Given the description of an element on the screen output the (x, y) to click on. 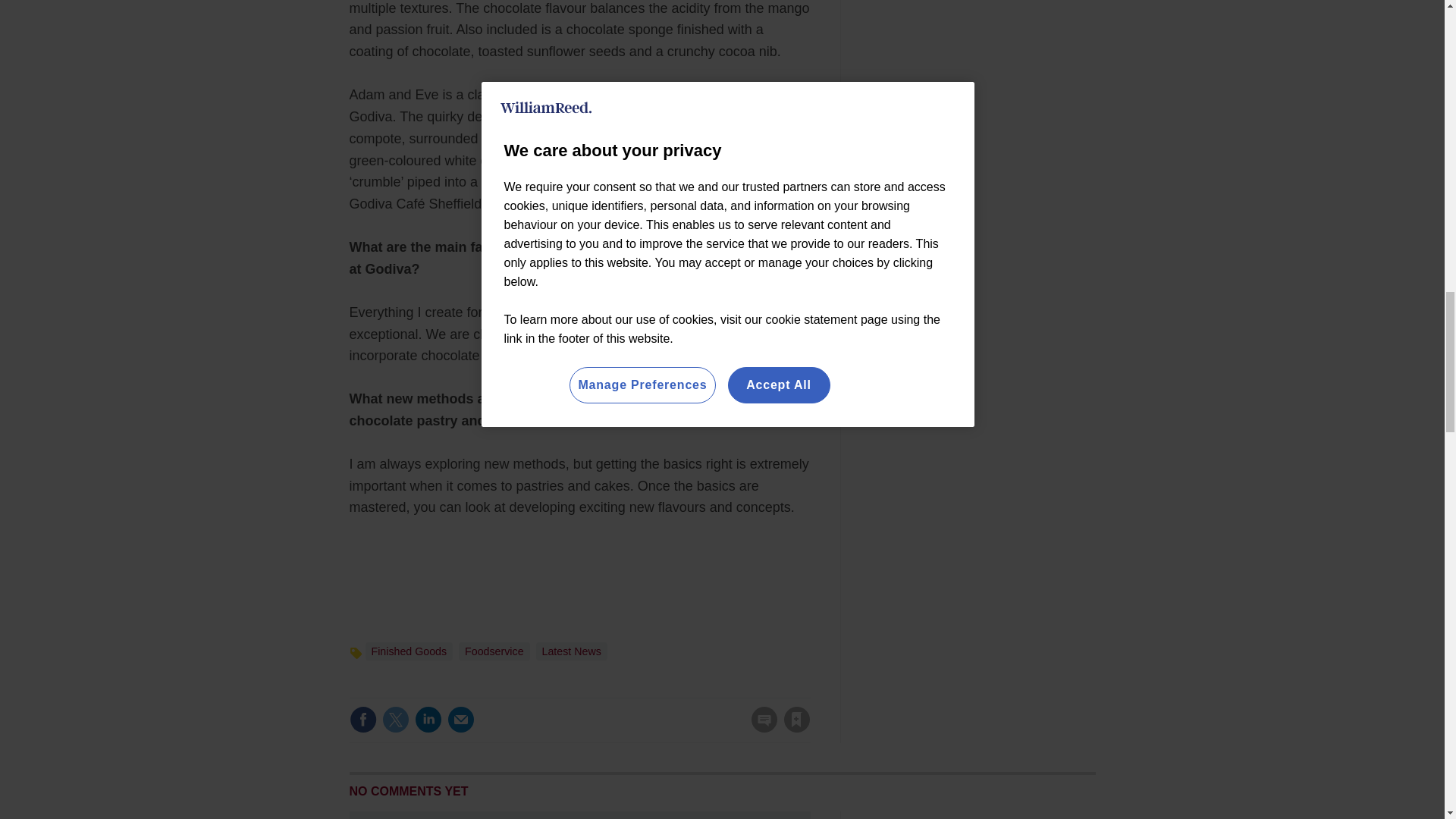
Email this article (460, 719)
No comments (759, 728)
Share this on Linked in (427, 719)
Share this on Twitter (395, 719)
Share this on Facebook (362, 719)
